Given the description of an element on the screen output the (x, y) to click on. 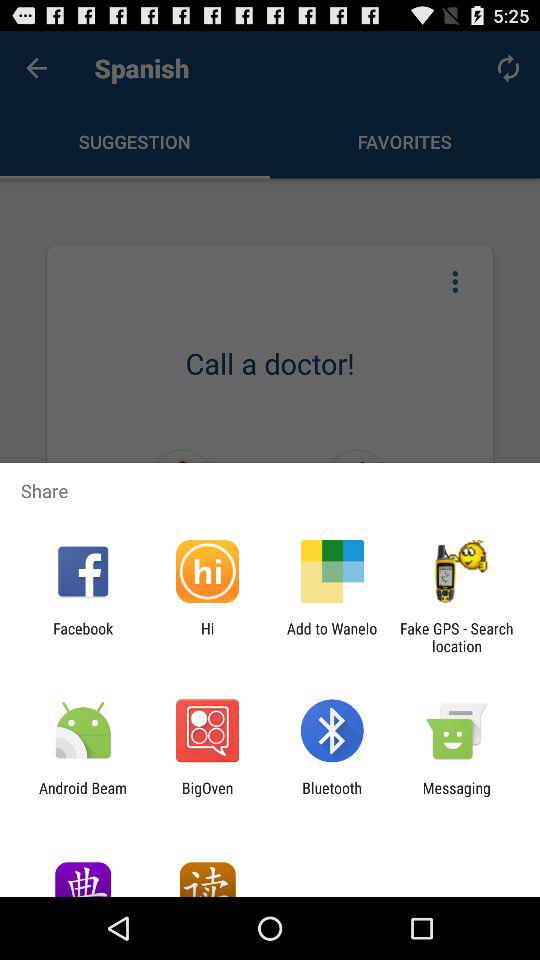
turn off the icon to the left of the bigoven app (83, 796)
